Given the description of an element on the screen output the (x, y) to click on. 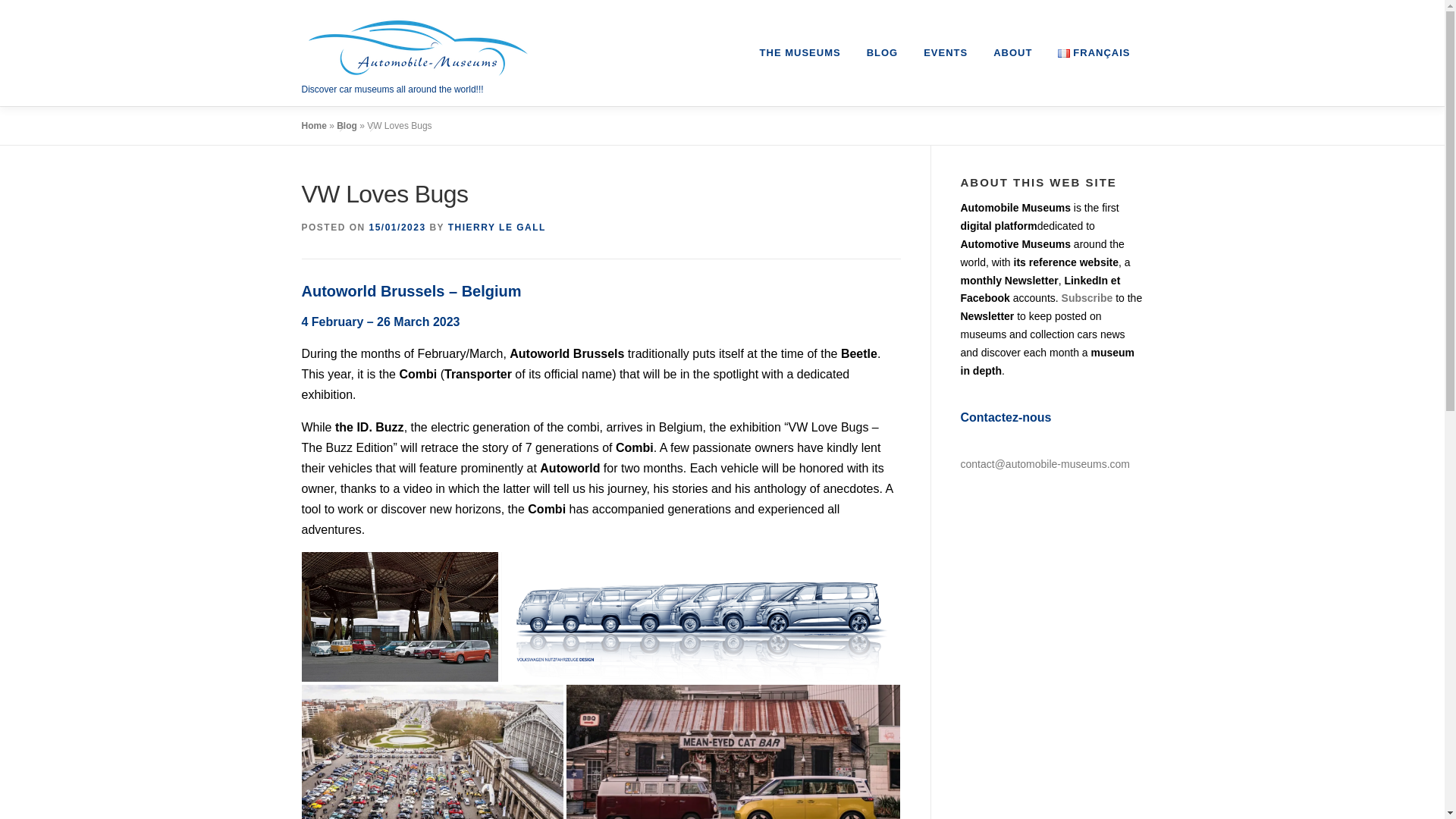
THIERRY LE GALL (497, 226)
Home (313, 125)
THE MUSEUMS (799, 53)
Subscribe (1087, 297)
Blog (346, 125)
